Given the description of an element on the screen output the (x, y) to click on. 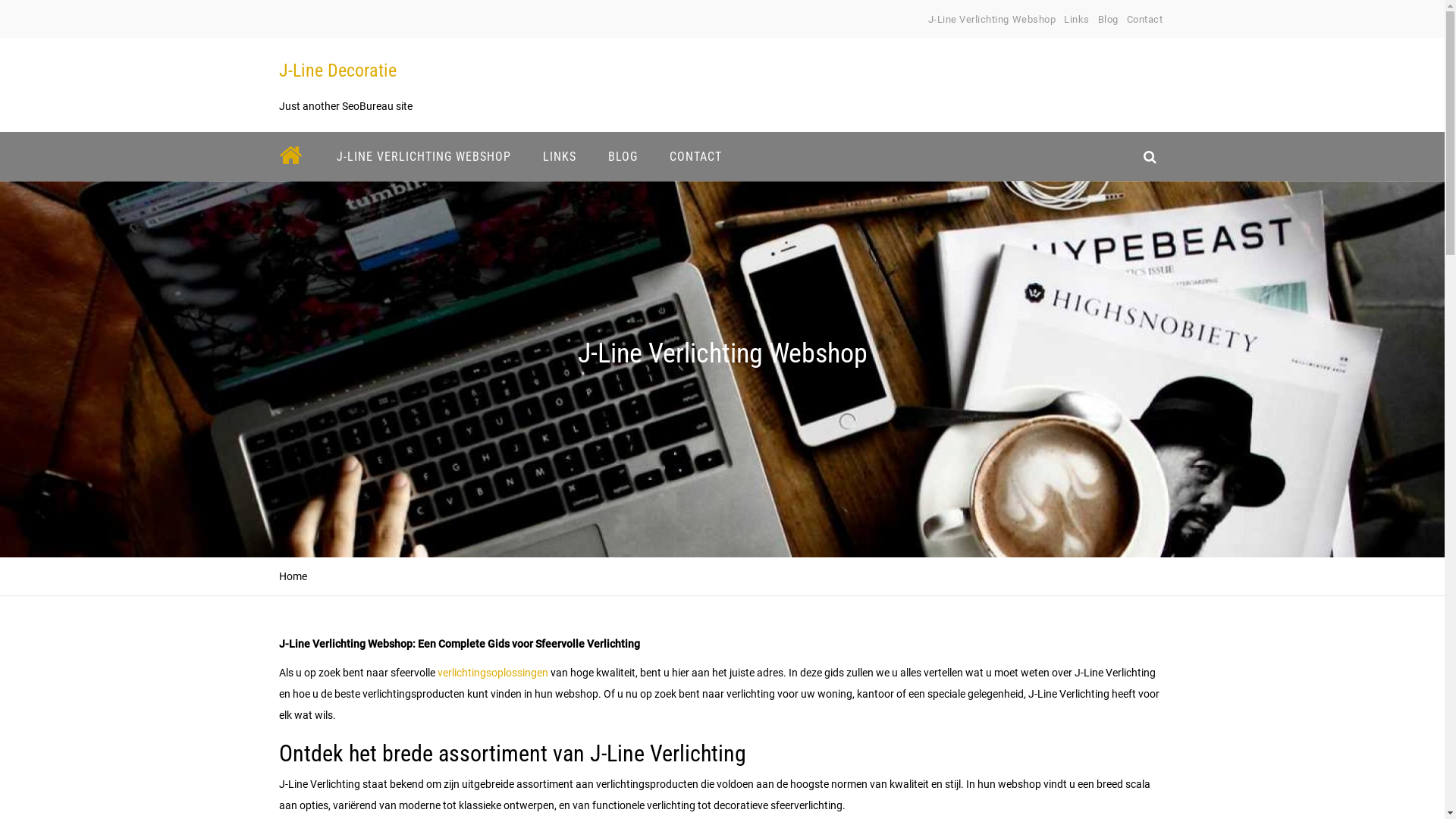
J-Line Verlichting Webshop Element type: text (992, 19)
LINKS Element type: text (558, 156)
CONTACT Element type: text (695, 156)
verlichtingsoplossingen Element type: text (491, 672)
J-LINE VERLICHTING WEBSHOP Element type: text (423, 156)
Contact Element type: text (1144, 19)
Links Element type: text (1076, 19)
BLOG Element type: text (621, 156)
search_icon Element type: hover (1148, 156)
Blog Element type: text (1108, 19)
J-Line Decoratie Element type: text (337, 70)
